Given the description of an element on the screen output the (x, y) to click on. 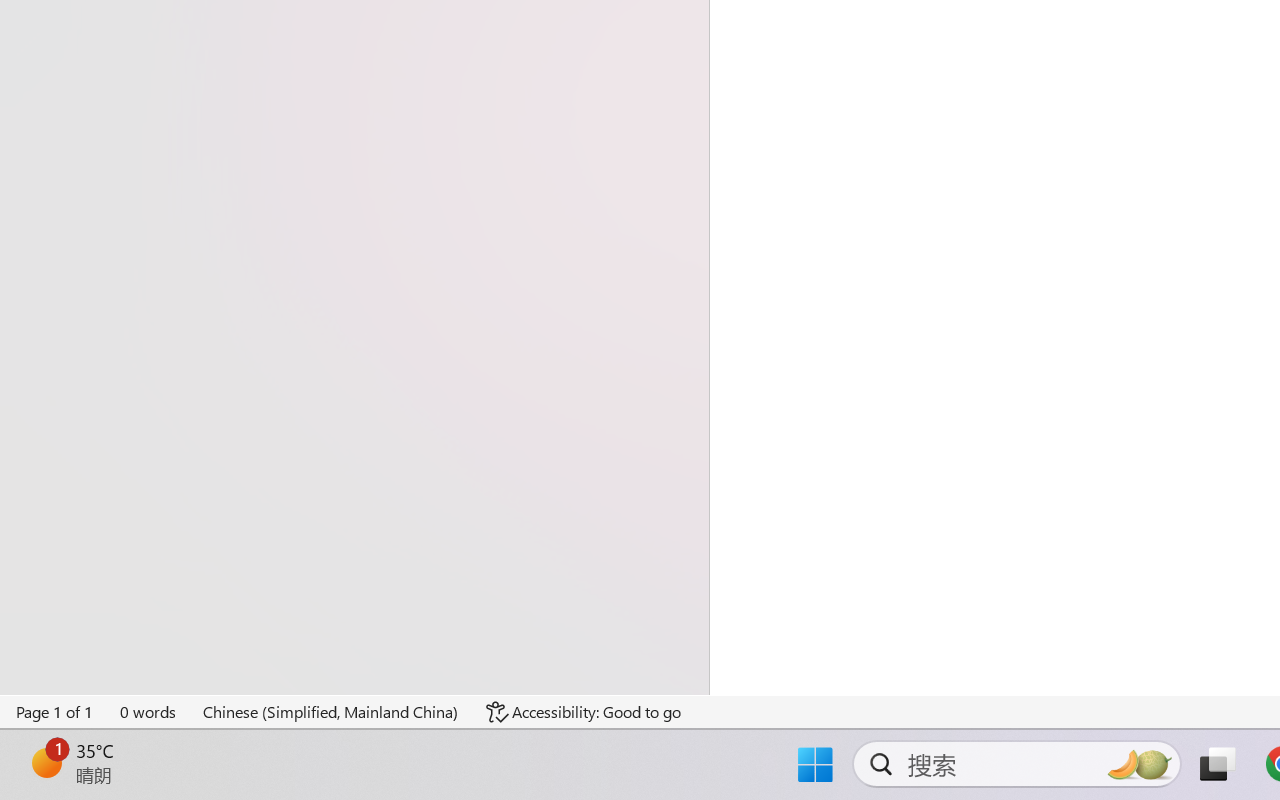
Language Chinese (Simplified, Mainland China) (331, 712)
